Given the description of an element on the screen output the (x, y) to click on. 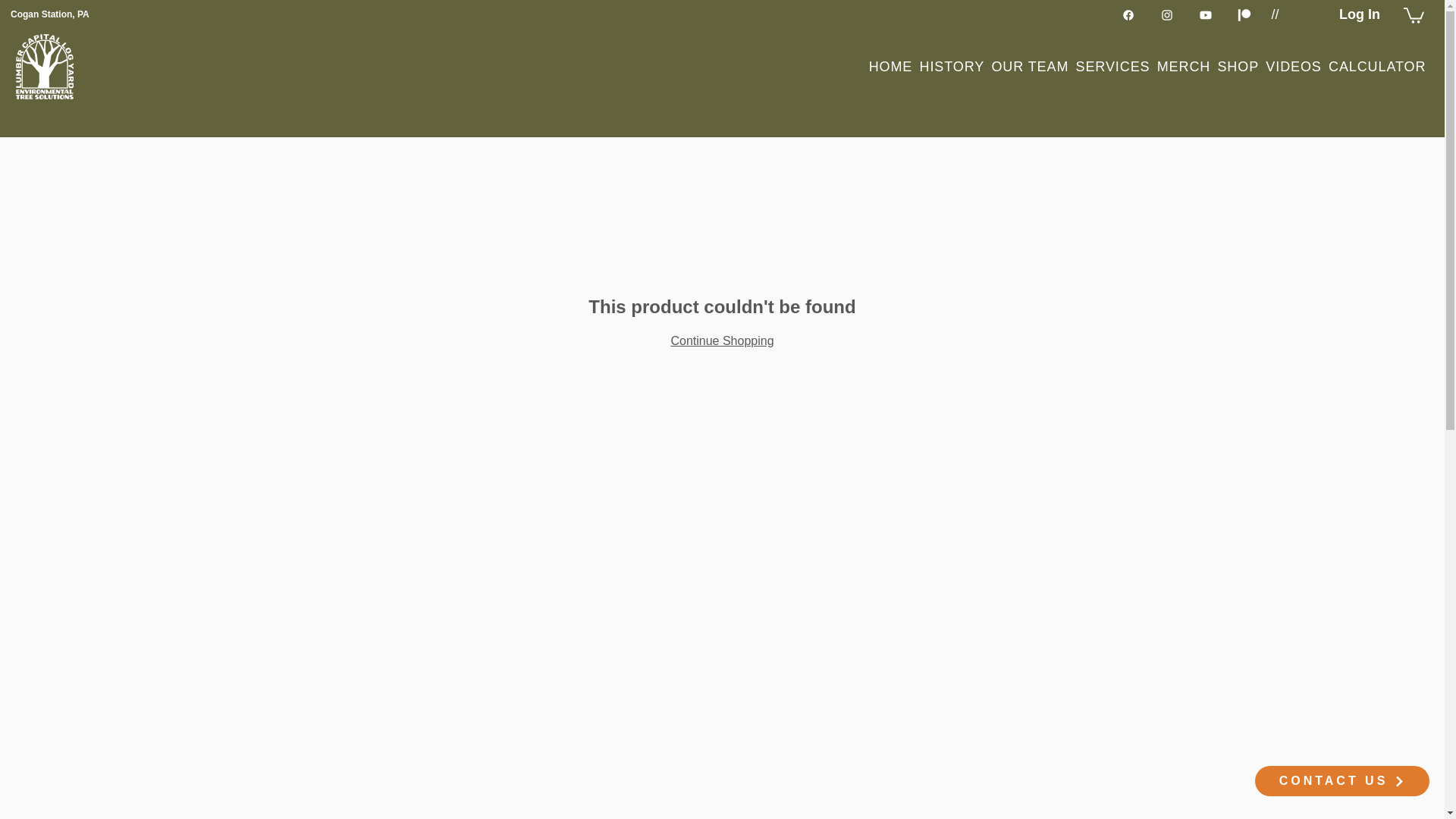
VIDEOS (1293, 66)
CONTACT US (1342, 780)
Continue Shopping (721, 340)
SERVICES (1113, 66)
CALCULATOR (1376, 66)
OUR TEAM (1029, 66)
MERCH (1183, 66)
SHOP (1238, 66)
HISTORY (952, 66)
Log In (1358, 14)
HOME (890, 66)
